Given the description of an element on the screen output the (x, y) to click on. 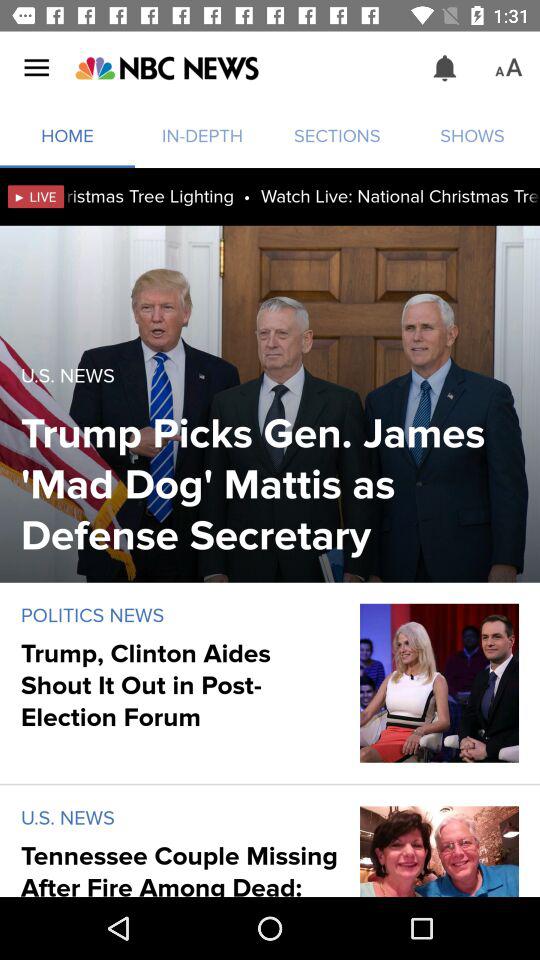
link to home page (166, 68)
